Given the description of an element on the screen output the (x, y) to click on. 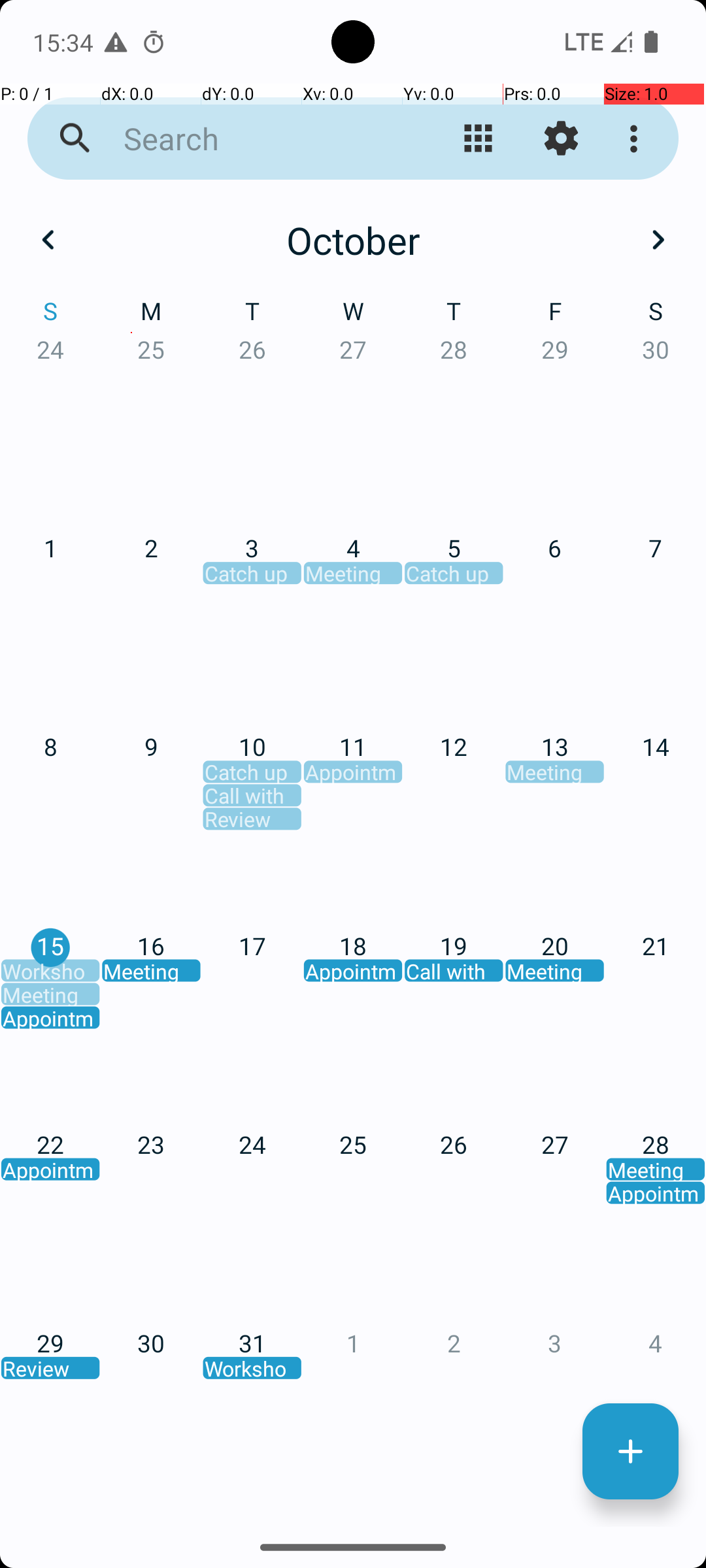
October Element type: android.widget.TextView (352, 239)
